Given the description of an element on the screen output the (x, y) to click on. 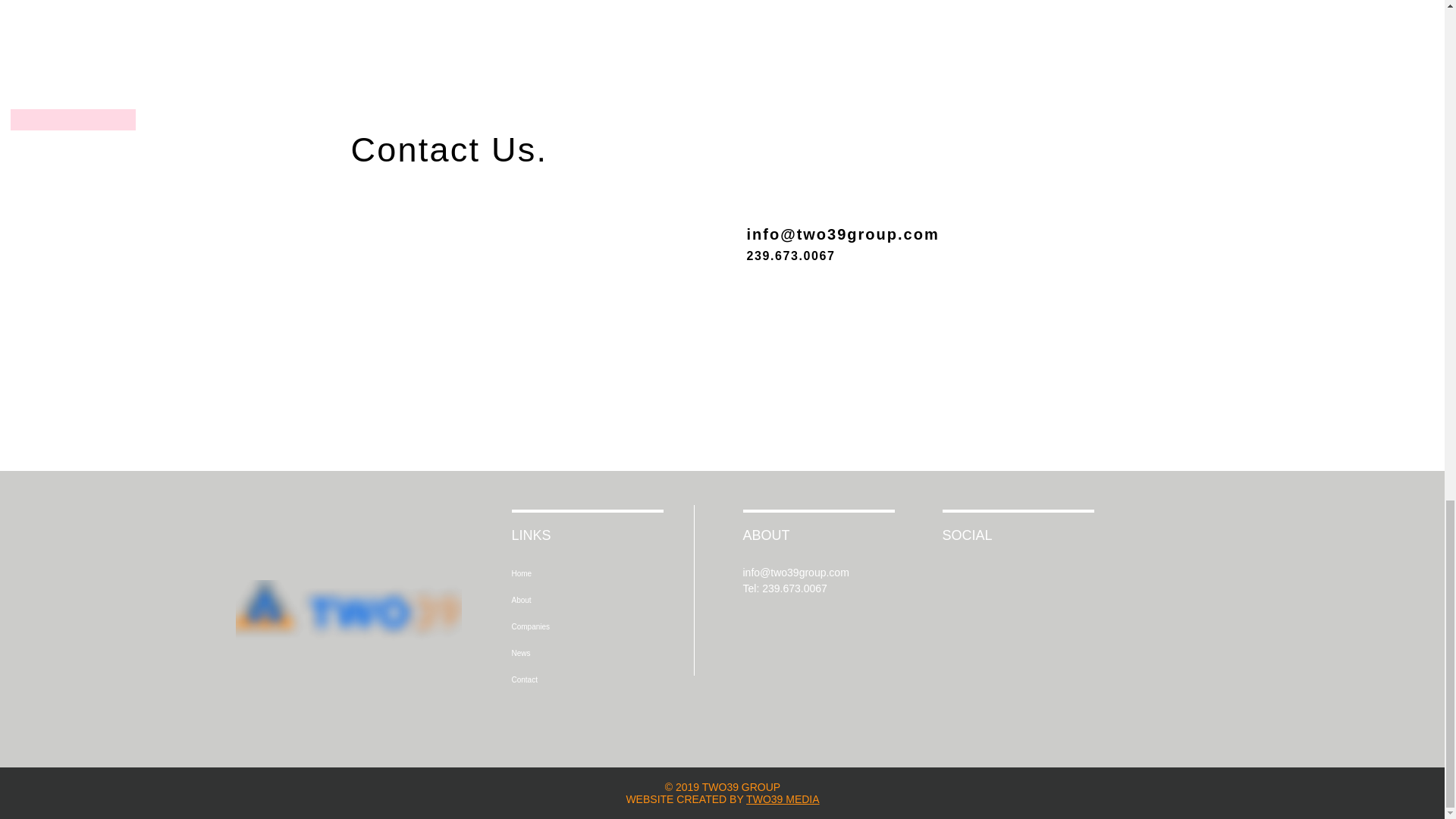
Home (583, 573)
TWO39 MEDIA (781, 799)
Home (72, 136)
About (72, 193)
Contact (583, 679)
Companies (72, 249)
Contact (72, 361)
About (583, 600)
News (583, 652)
News (72, 305)
Companies (583, 626)
